Given the description of an element on the screen output the (x, y) to click on. 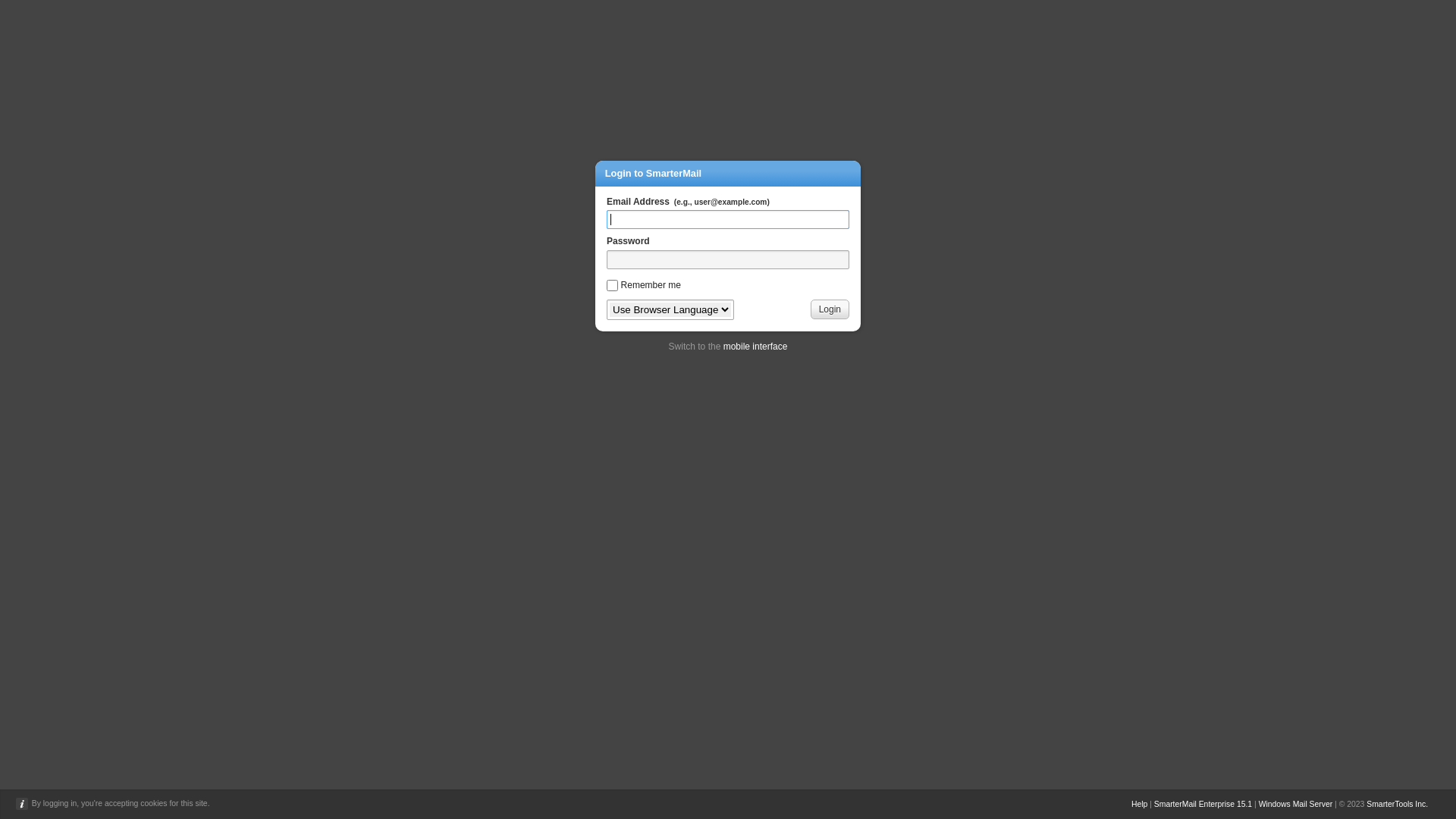
Help Element type: text (1139, 804)
Login Element type: text (829, 309)
Windows Mail Server Element type: text (1295, 804)
SmarterTools Inc. Element type: text (1396, 804)
mobile interface Element type: text (755, 346)
SmarterMail Enterprise 15.1 Element type: text (1203, 804)
